Given the description of an element on the screen output the (x, y) to click on. 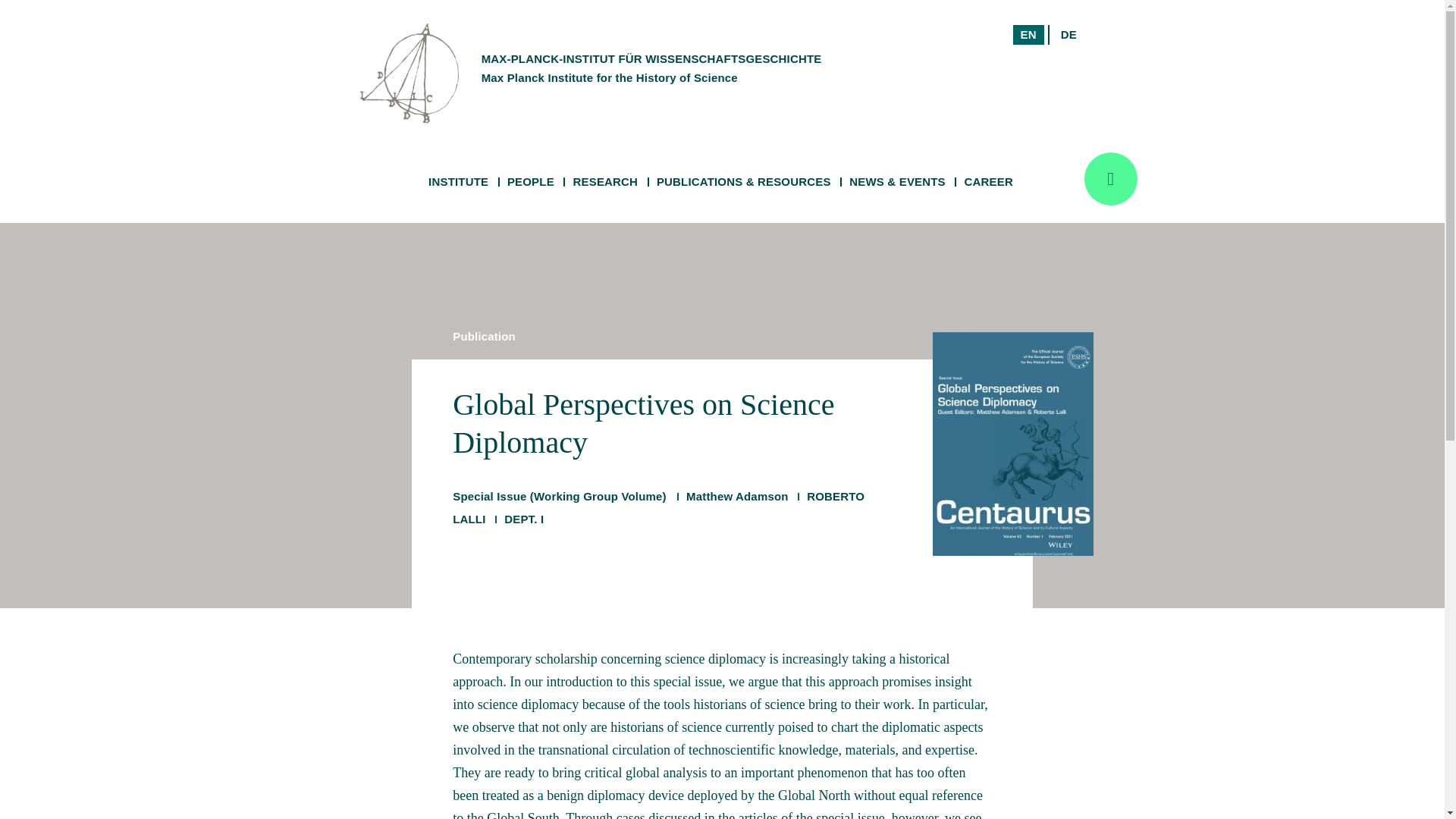
PEOPLE (531, 181)
EN (1028, 35)
INSTITUTE (458, 181)
RESEARCH (604, 181)
DE (1013, 52)
